Given the description of an element on the screen output the (x, y) to click on. 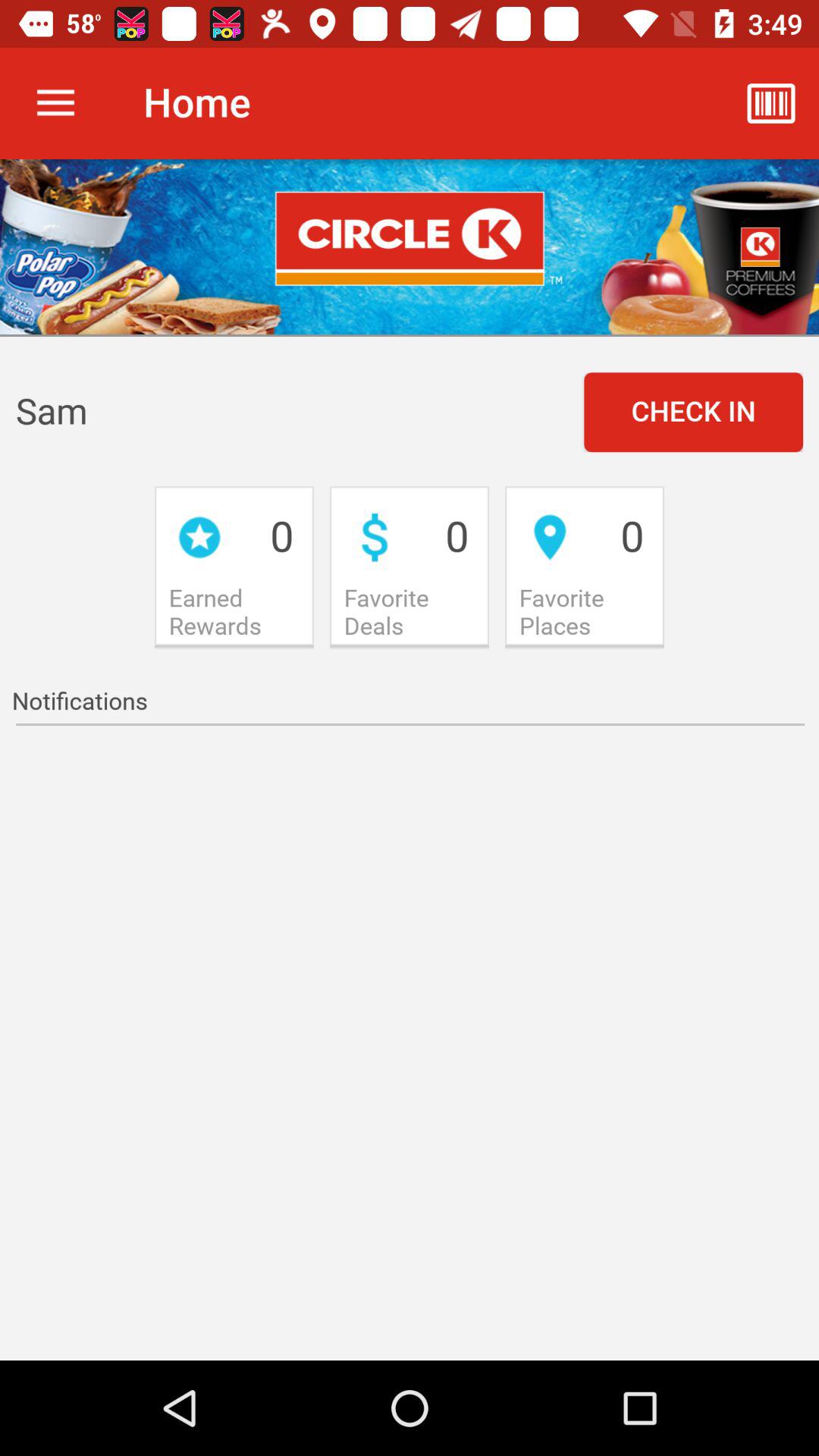
select the icon which is at top right side of the page (771, 103)
